Given the description of an element on the screen output the (x, y) to click on. 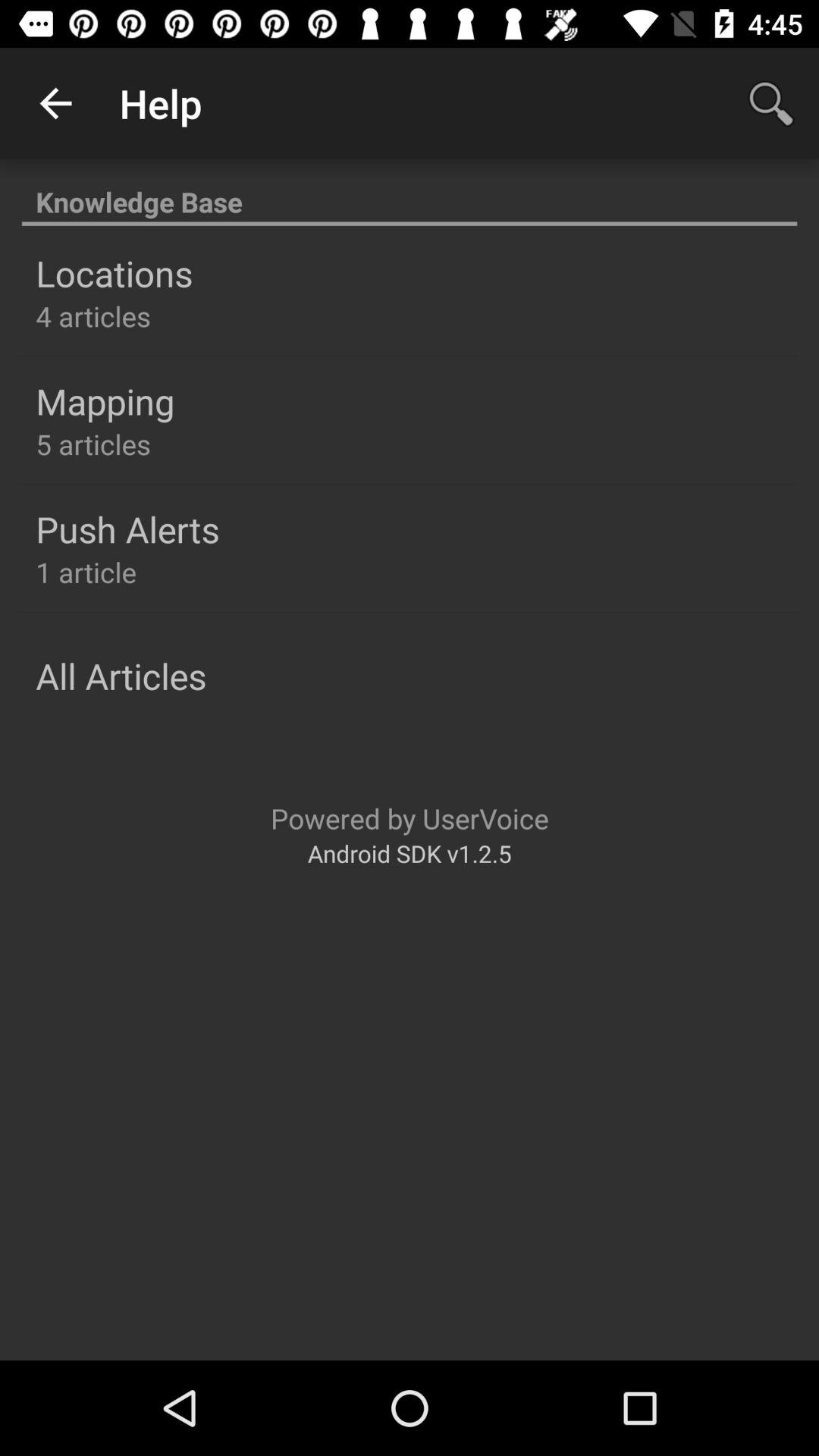
flip until the 4 articles item (92, 315)
